Given the description of an element on the screen output the (x, y) to click on. 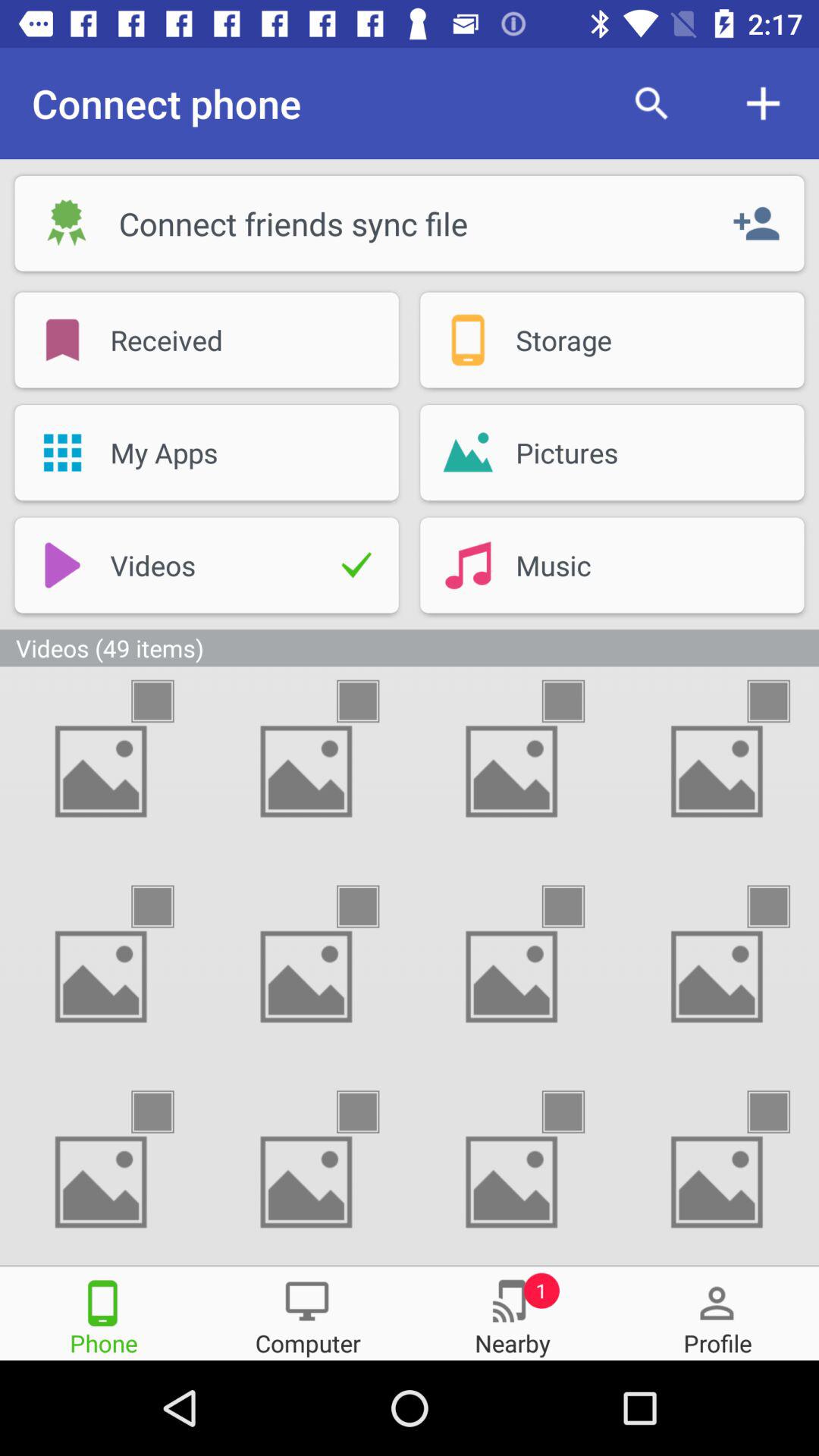
select option (782, 906)
